Given the description of an element on the screen output the (x, y) to click on. 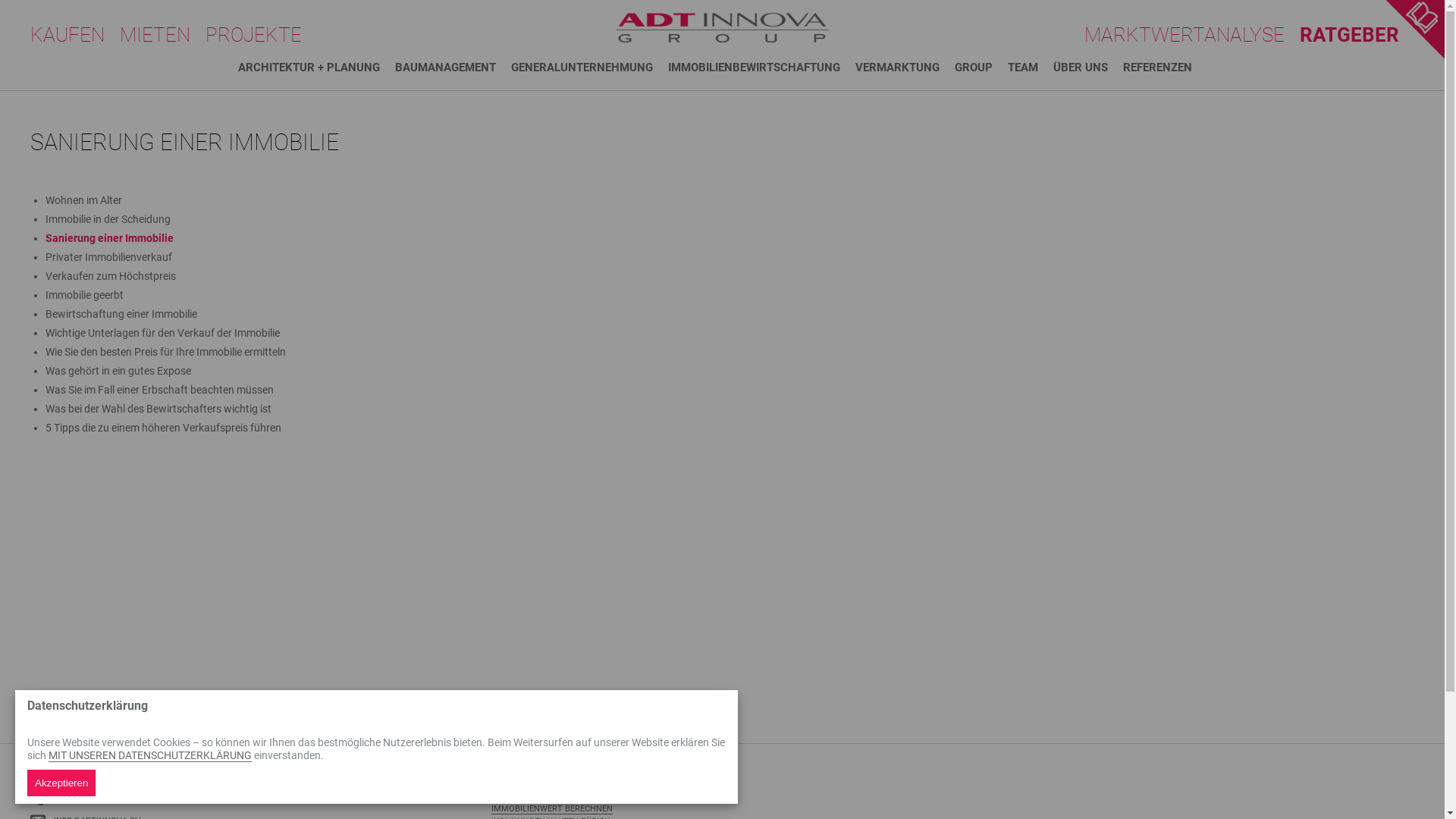
Akzeptieren Element type: text (61, 782)
RATGEBER Element type: text (1356, 34)
REFERENZEN Element type: text (1164, 67)
Bewirtschaftung einer Immobilie Element type: text (121, 313)
IMMOBILIENWERT BERECHNEN Element type: text (551, 808)
PROJEKTE Element type: text (260, 34)
Privater Immobilienverkauf Element type: text (108, 257)
Immobilie geerbt Element type: text (84, 294)
VERMARKTUNG Element type: text (904, 67)
Sanierung einer Immobilie Element type: text (109, 238)
Immobilie in der Scheidung Element type: text (107, 219)
GENERALUNTERNEHMUNG Element type: text (589, 67)
TEAM Element type: text (1029, 67)
Was bei der Wahl des Bewirtschafters wichtig ist Element type: text (158, 408)
IMMOBILIENBEWIRTSCHAFTUNG Element type: text (760, 67)
BAUMANAGEMENT Element type: text (452, 67)
MIETEN Element type: text (162, 34)
MARKTWERTANALYSE Element type: text (1191, 34)
Wohnen im Alter Element type: text (83, 200)
ARCHITEKTUR + PLANUNG Element type: text (316, 67)
GROUP Element type: text (980, 67)
KAUFEN Element type: text (74, 34)
